Given the description of an element on the screen output the (x, y) to click on. 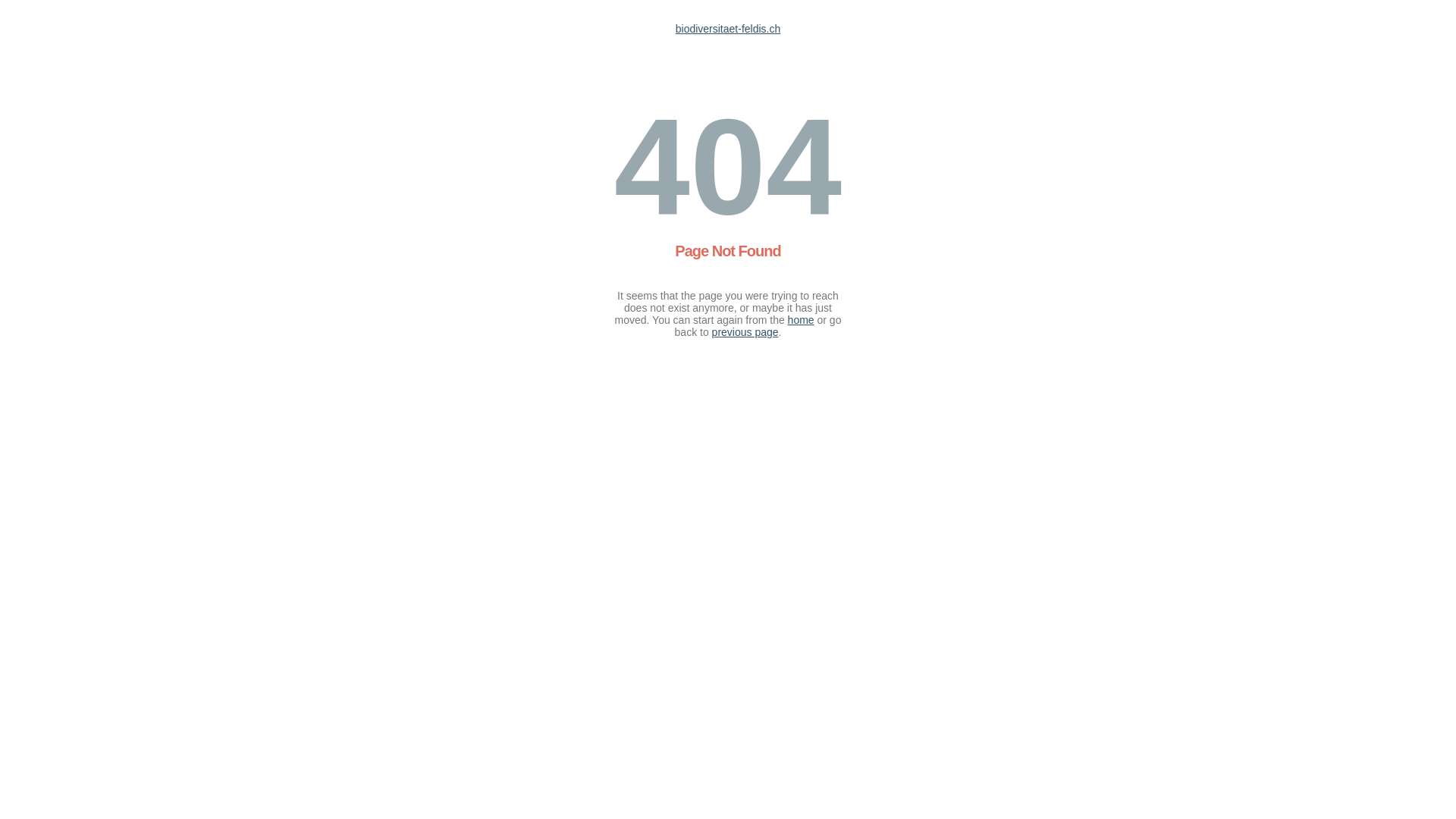
biodiversitaet-feldis.ch Element type: text (728, 28)
previous page Element type: text (745, 332)
home Element type: text (800, 319)
